Given the description of an element on the screen output the (x, y) to click on. 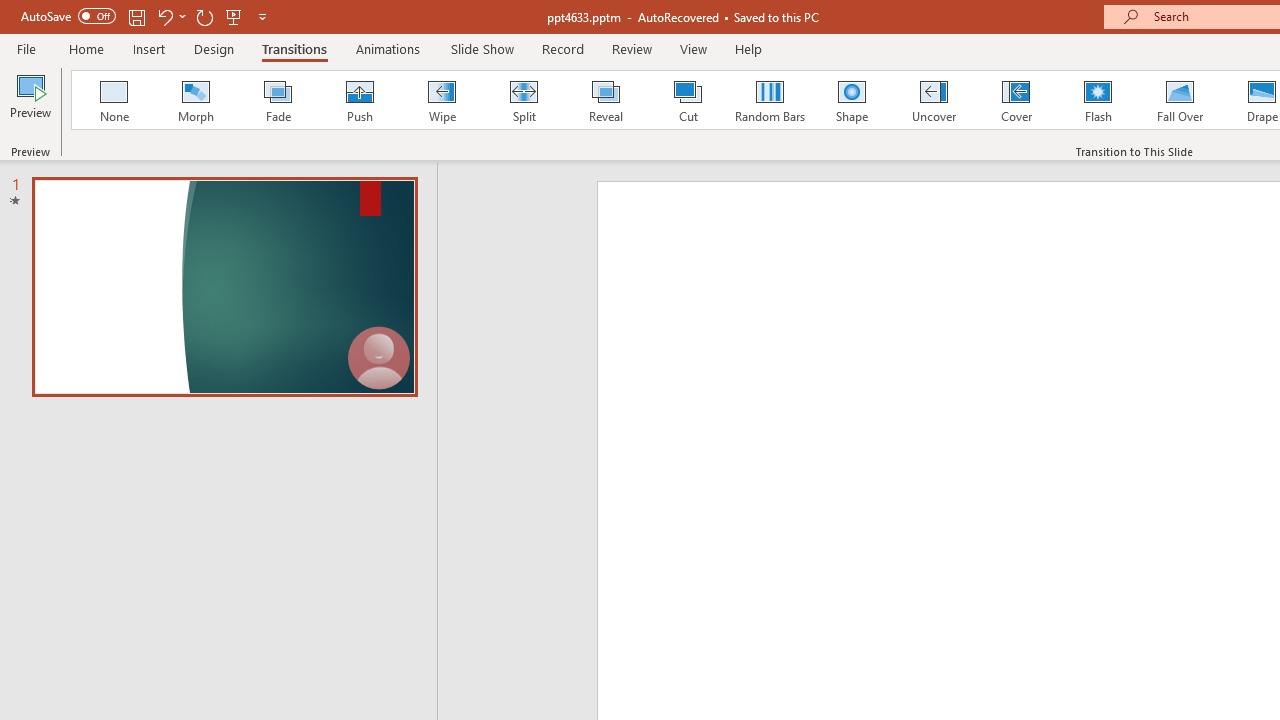
Random Bars (770, 100)
Flash (1098, 100)
None (113, 100)
Split (523, 100)
Fall Over (1180, 100)
